Given the description of an element on the screen output the (x, y) to click on. 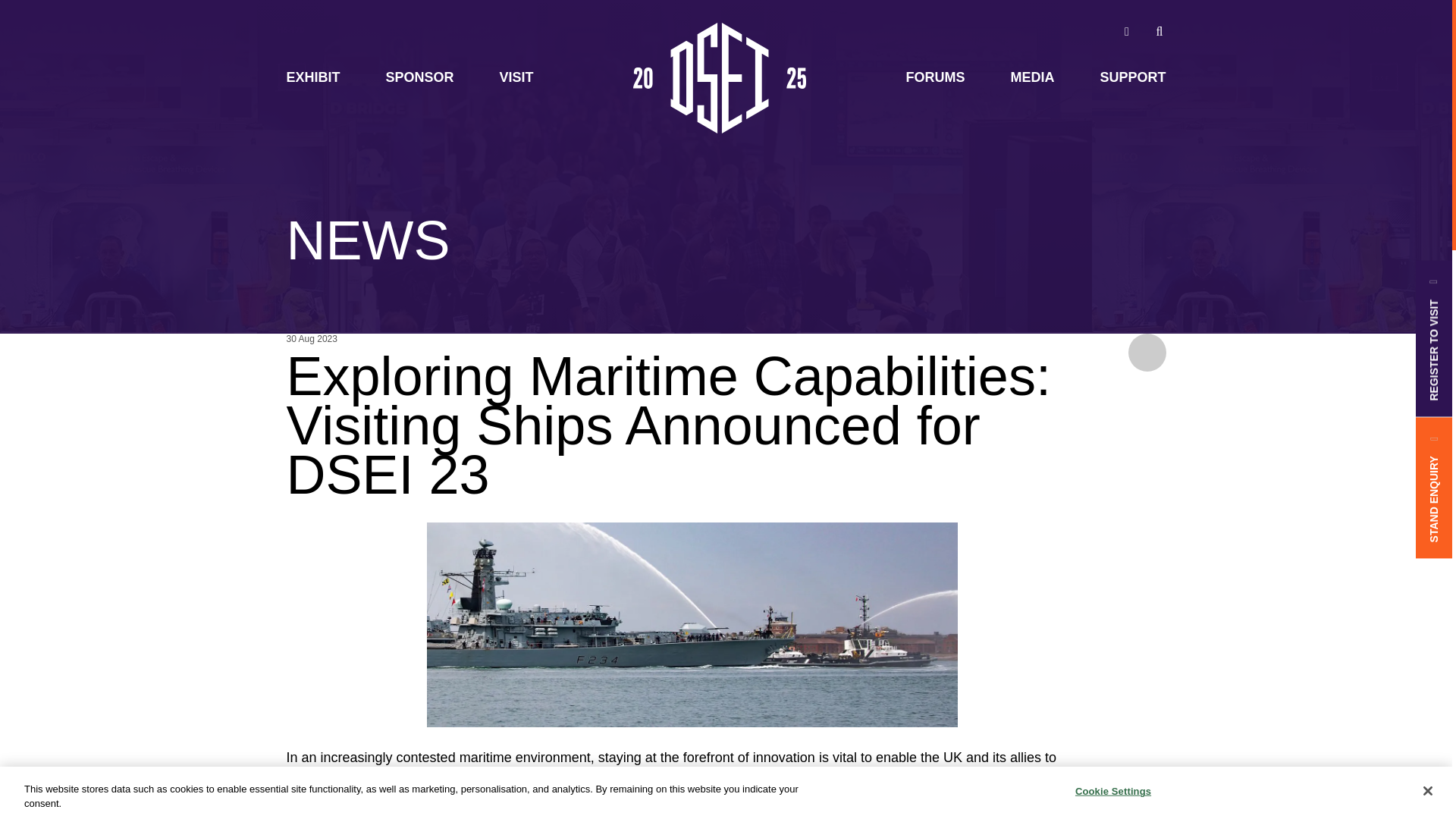
Search (1159, 31)
VISIT (516, 88)
LinkedIn (1125, 31)
EXHIBIT (313, 88)
SPONSOR (419, 88)
